Given the description of an element on the screen output the (x, y) to click on. 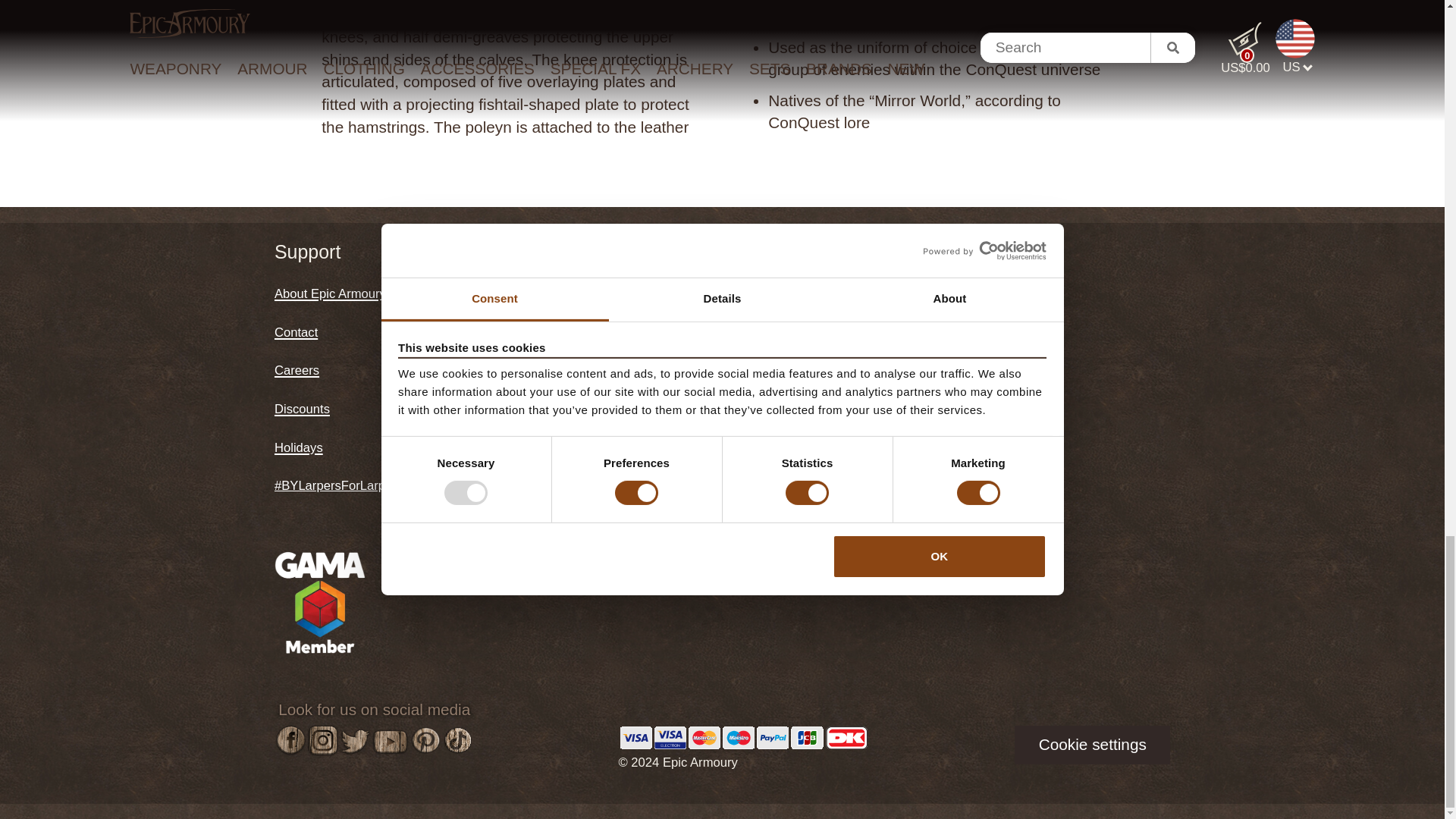
Contact (296, 330)
Weapon Construction (542, 370)
Discounts (302, 407)
Holidays (299, 446)
Size Guides (531, 409)
Careers (296, 368)
Supported Brands (549, 330)
Epic Armoury (529, 292)
About (330, 292)
